Given the description of an element on the screen output the (x, y) to click on. 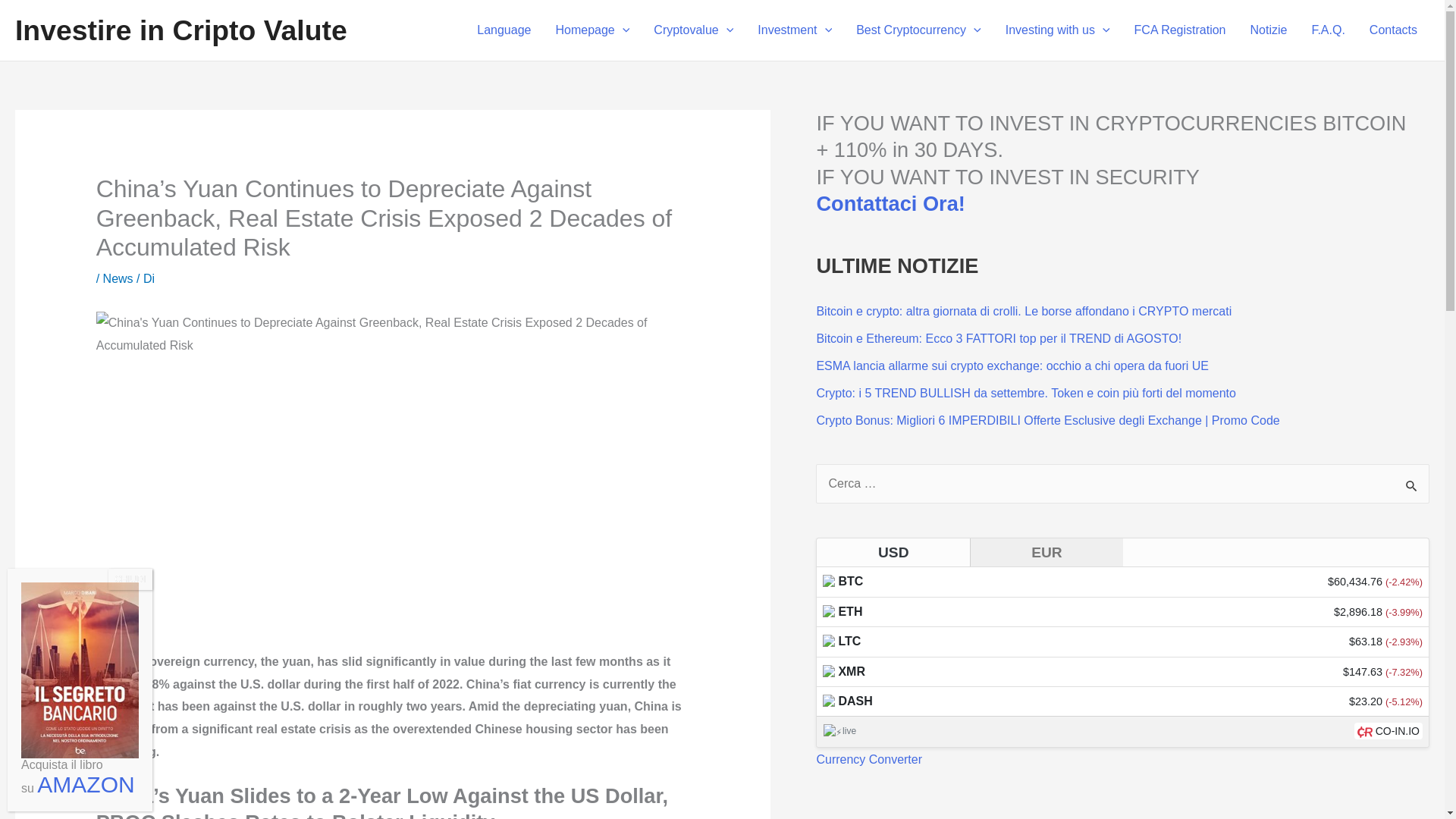
Investing with us (1057, 30)
Language (503, 30)
F.A.Q. (1327, 30)
Best Cryptocurrency (918, 30)
FCA Registration (1180, 30)
Homepage (592, 30)
Investire in Cripto Valute (180, 29)
Cryptovalue (693, 30)
Contacts (1392, 30)
Investment (794, 30)
